Given the description of an element on the screen output the (x, y) to click on. 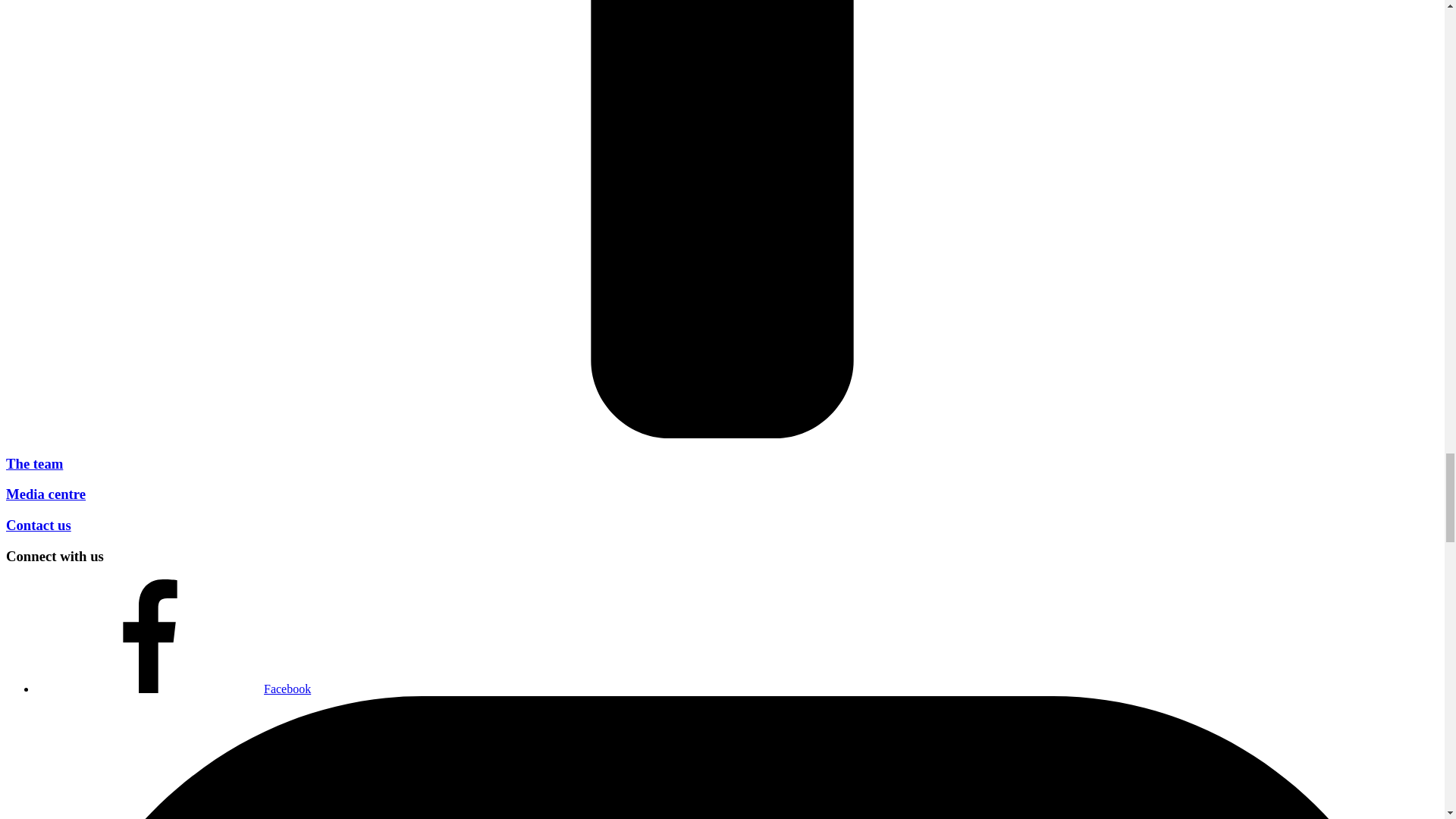
Contact us (38, 524)
The team (33, 463)
Media centre (45, 494)
Facebook (173, 688)
